Given the description of an element on the screen output the (x, y) to click on. 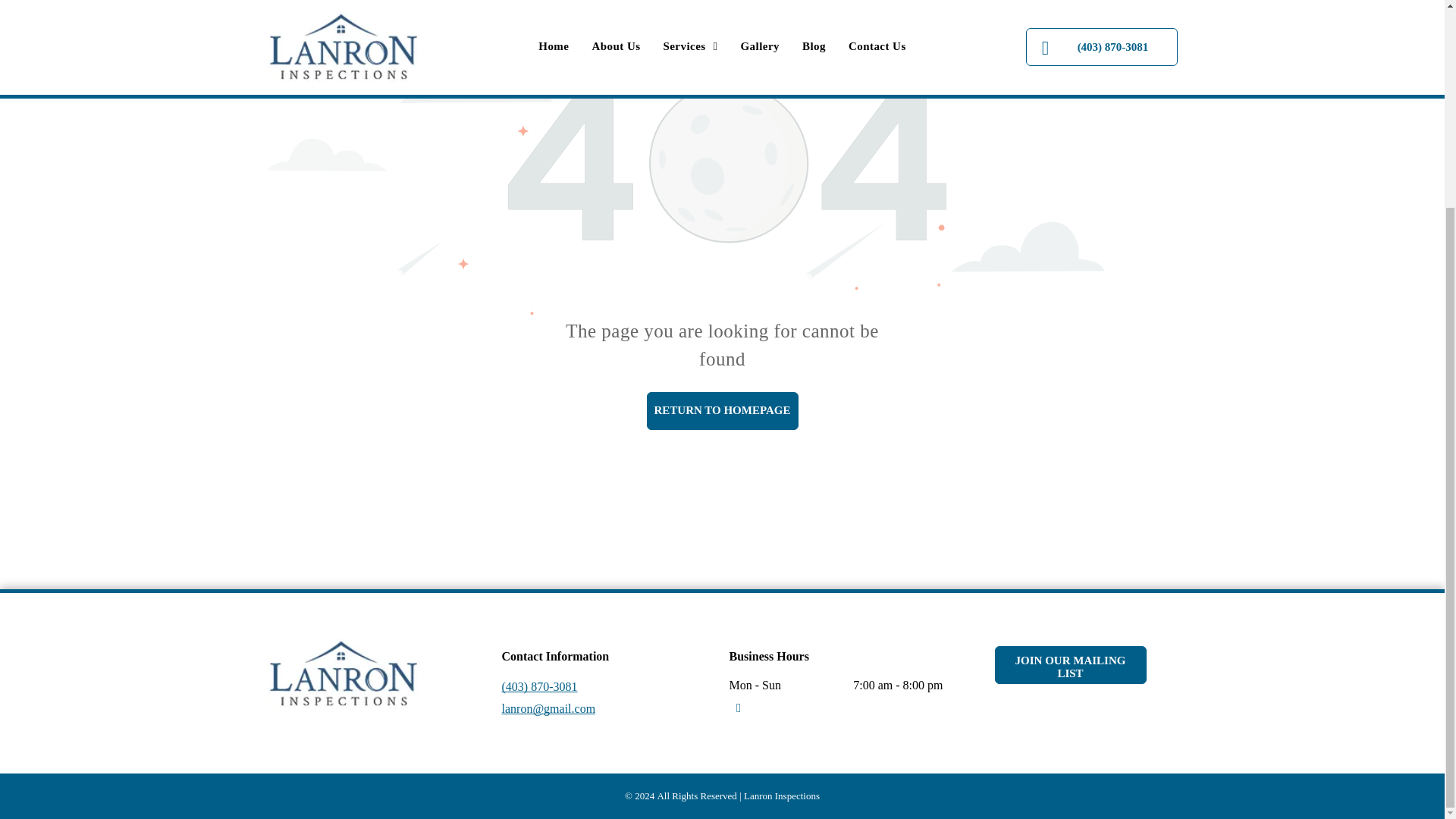
RETURN TO HOMEPAGE (721, 410)
JOIN OUR MAILING LIST (1070, 664)
